Given the description of an element on the screen output the (x, y) to click on. 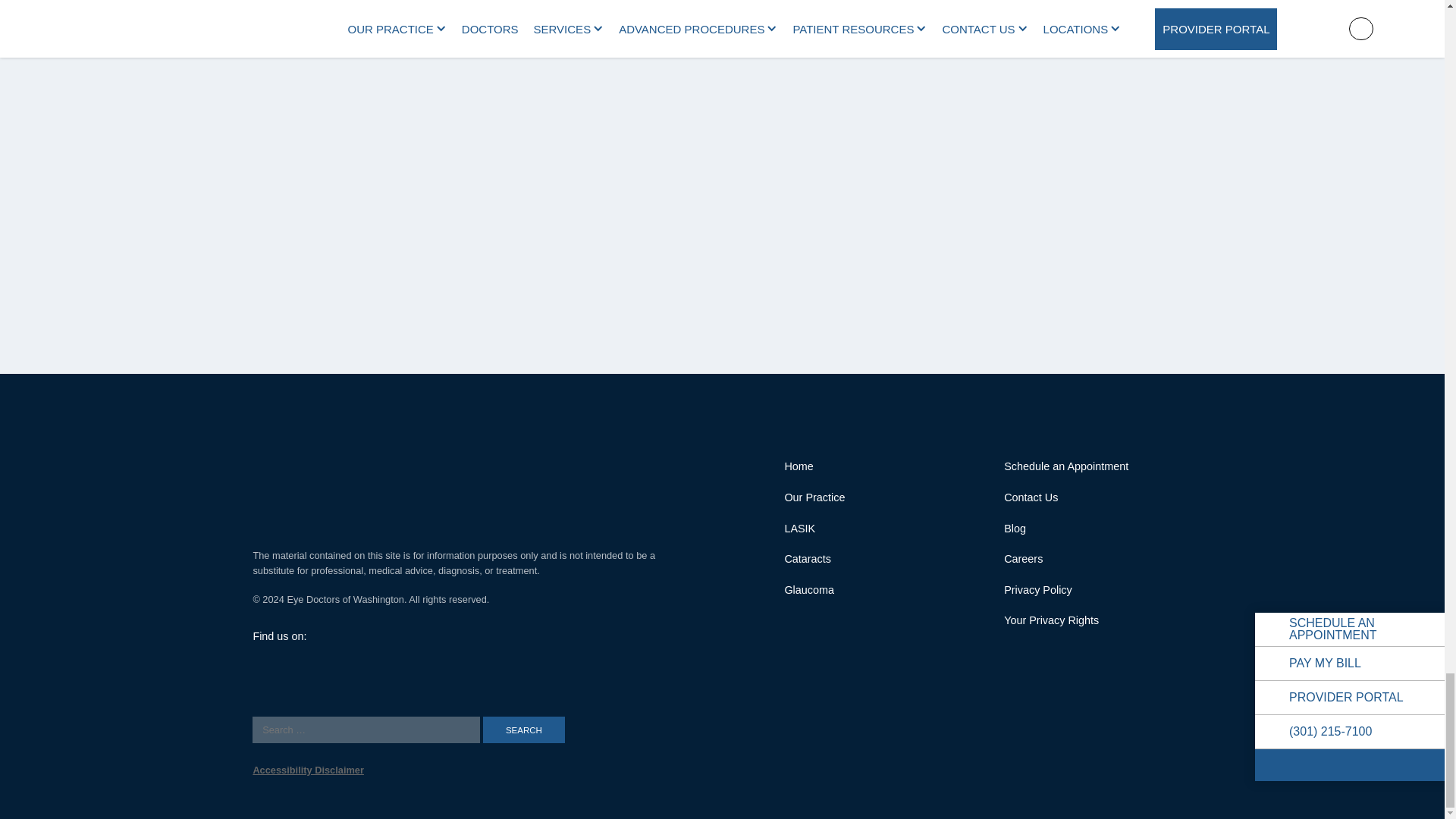
Search (523, 729)
Search (523, 729)
